Given the description of an element on the screen output the (x, y) to click on. 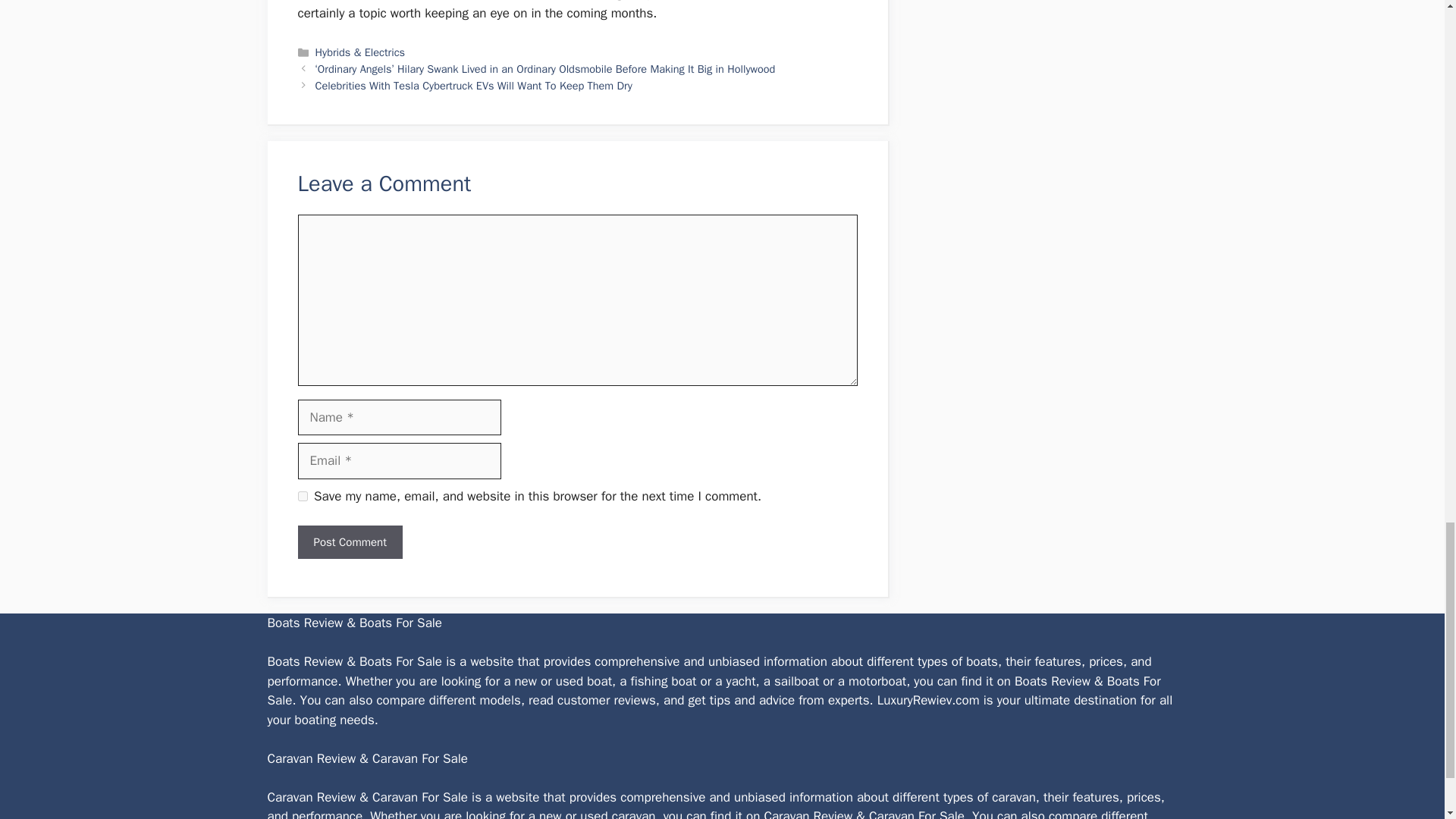
Post Comment (349, 542)
yes (302, 496)
Post Comment (349, 542)
LuxuryRewiev.com (928, 700)
